Given the description of an element on the screen output the (x, y) to click on. 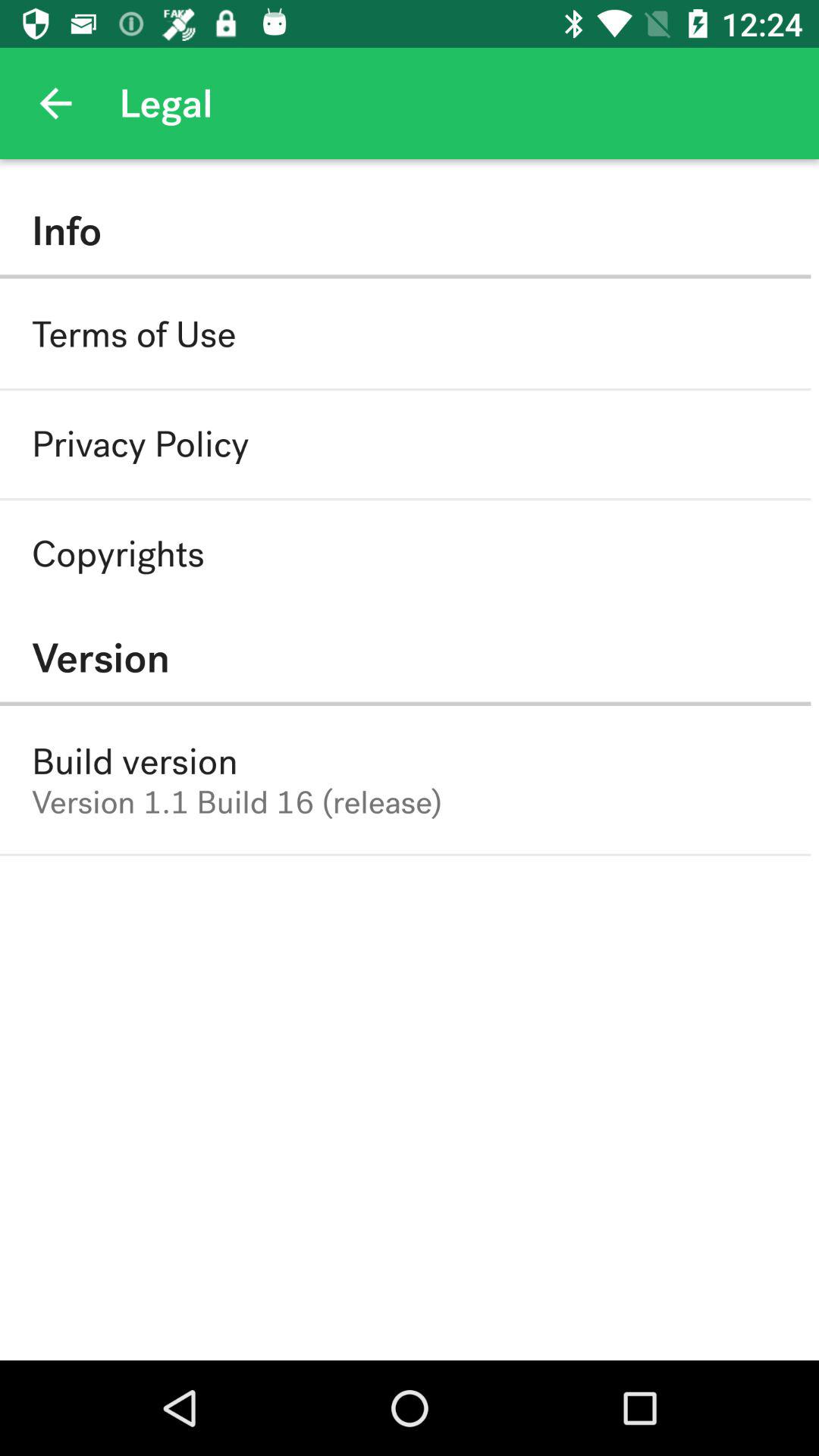
jump to the privacy policy (140, 444)
